Given the description of an element on the screen output the (x, y) to click on. 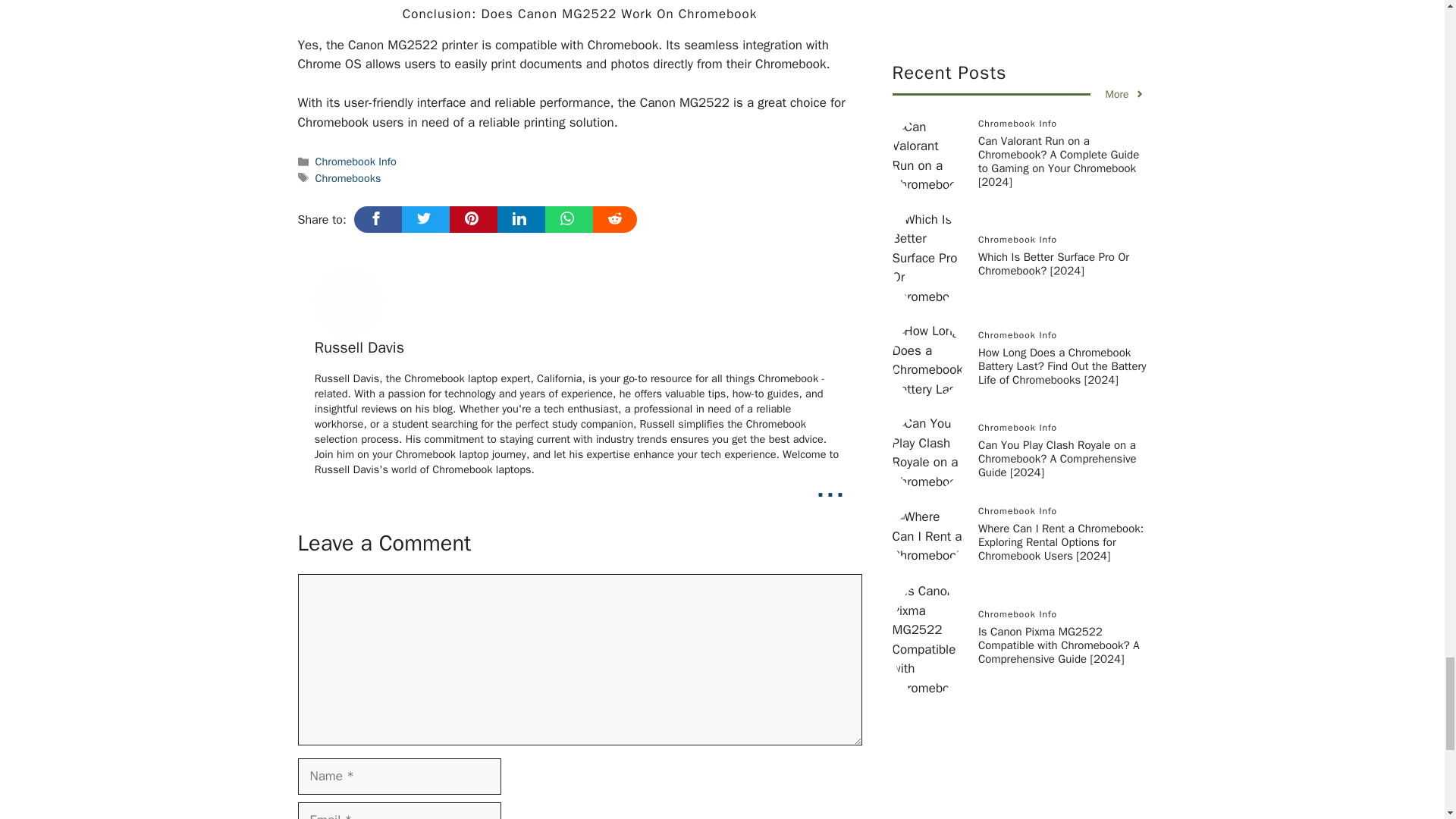
Chromebook Info (355, 161)
Read more (829, 485)
Chromebooks (348, 178)
